Given the description of an element on the screen output the (x, y) to click on. 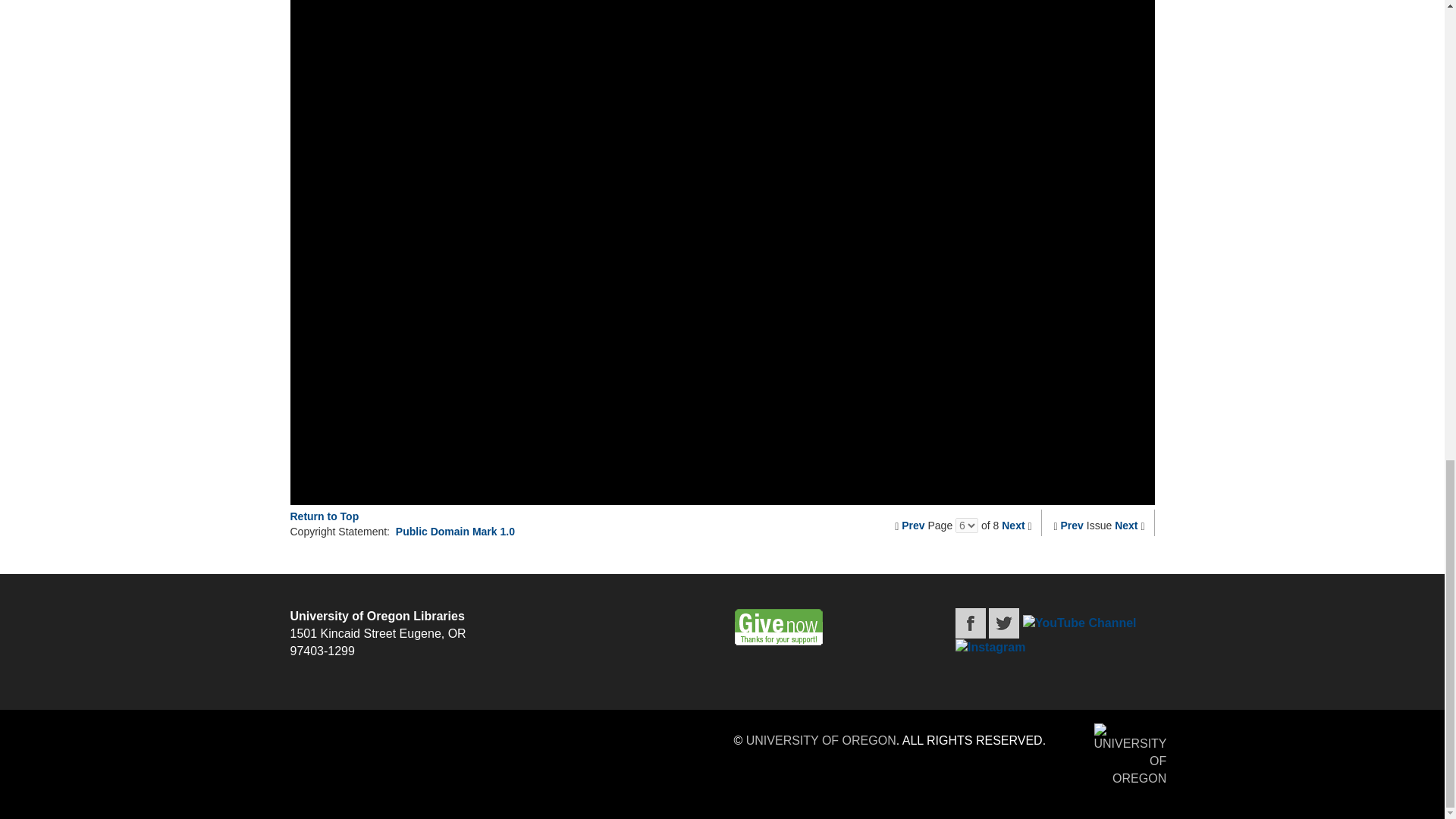
Prev (1072, 525)
Next (1126, 525)
Return to Top (323, 516)
Prev (912, 525)
Next (1013, 525)
Public Domain Mark 1.0 (455, 531)
